Given the description of an element on the screen output the (x, y) to click on. 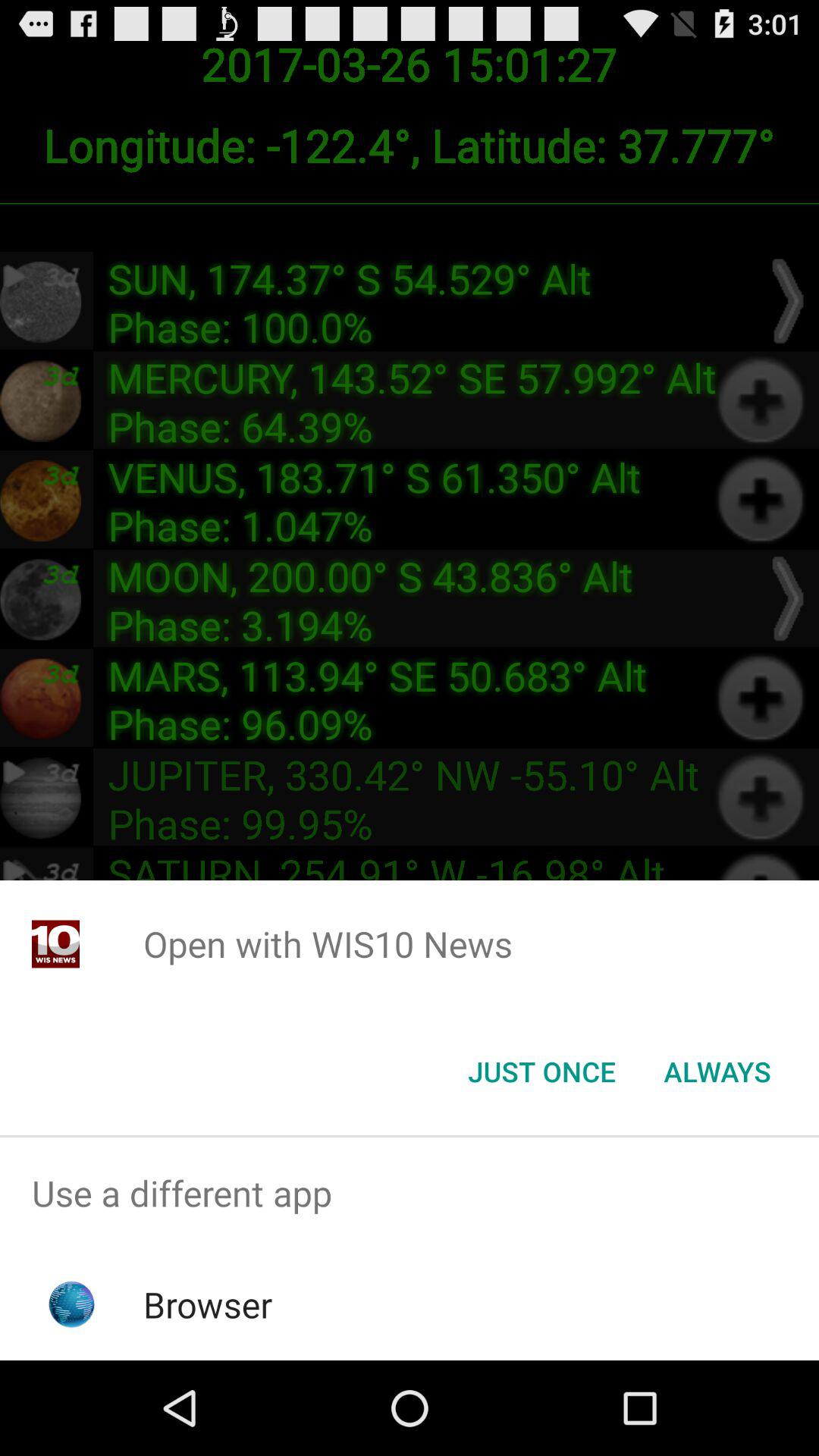
open the item next to always (541, 1071)
